Given the description of an element on the screen output the (x, y) to click on. 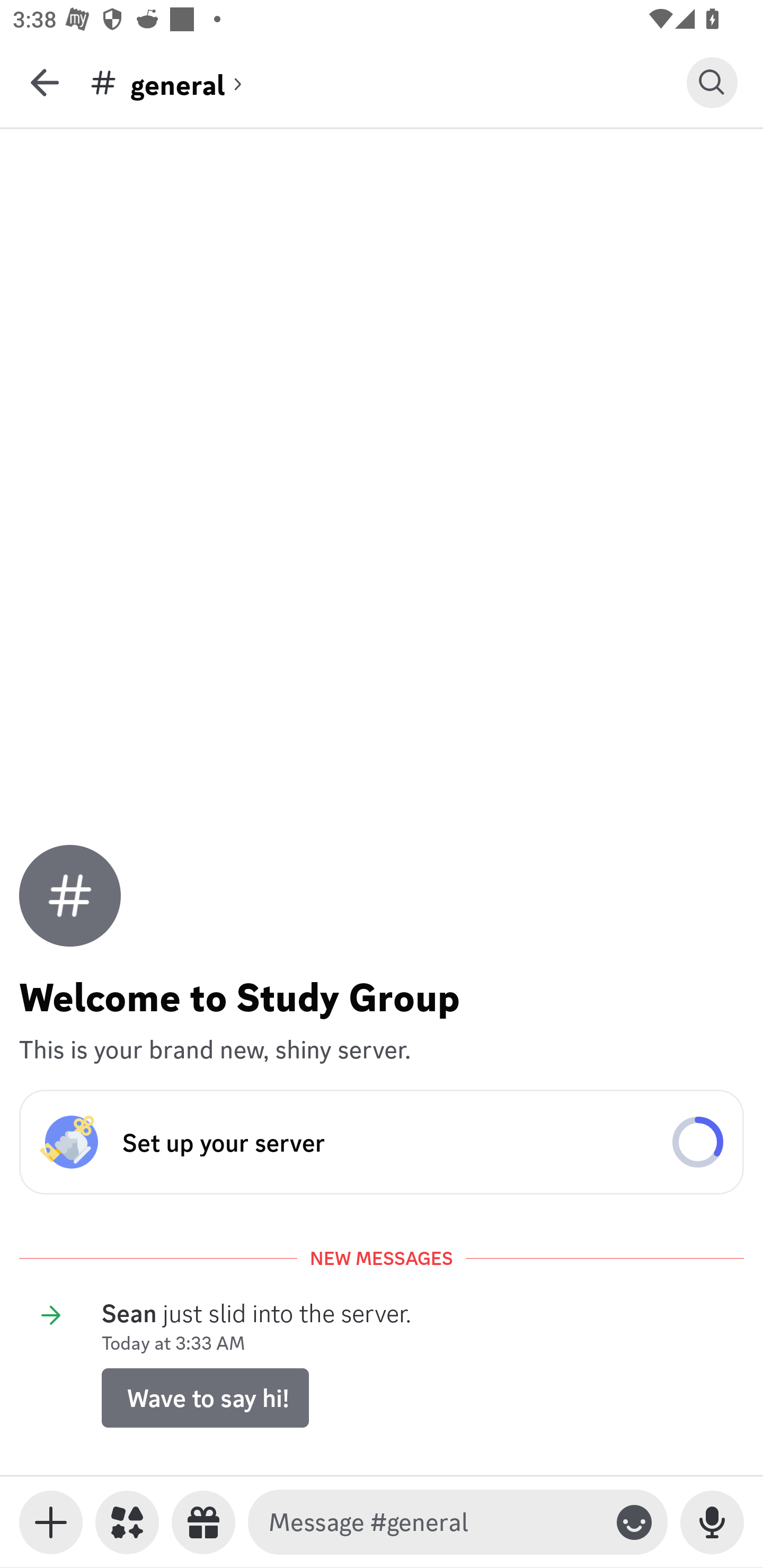
general (channel) general general (channel) (387, 82)
Back (44, 82)
Search (711, 82)
Set up your server (381, 1141)
Wave to say hi! (205, 1397)
Toggle media keyboard (50, 1522)
Apps (126, 1522)
Send a gift (203, 1522)
Record Voice Message (711, 1522)
Message #general (433, 1522)
Toggle emoji keyboard (634, 1522)
